Given the description of an element on the screen output the (x, y) to click on. 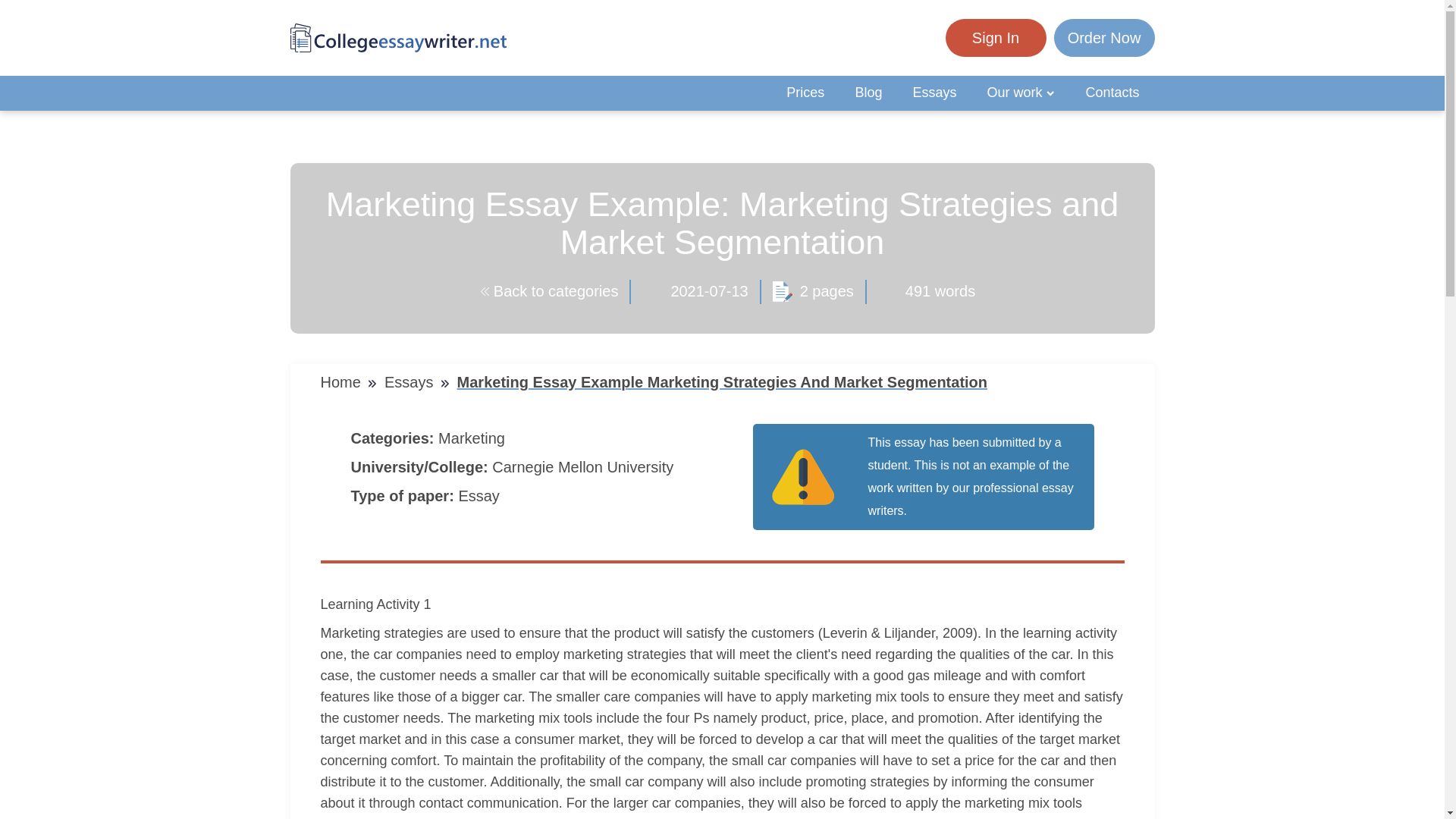
Essays (411, 381)
Essays (933, 93)
Contacts (1112, 93)
Order Now (1104, 37)
Marketing  (473, 437)
Prices (805, 93)
Blog (868, 93)
Back to categories (549, 291)
Home (342, 381)
